Given the description of an element on the screen output the (x, y) to click on. 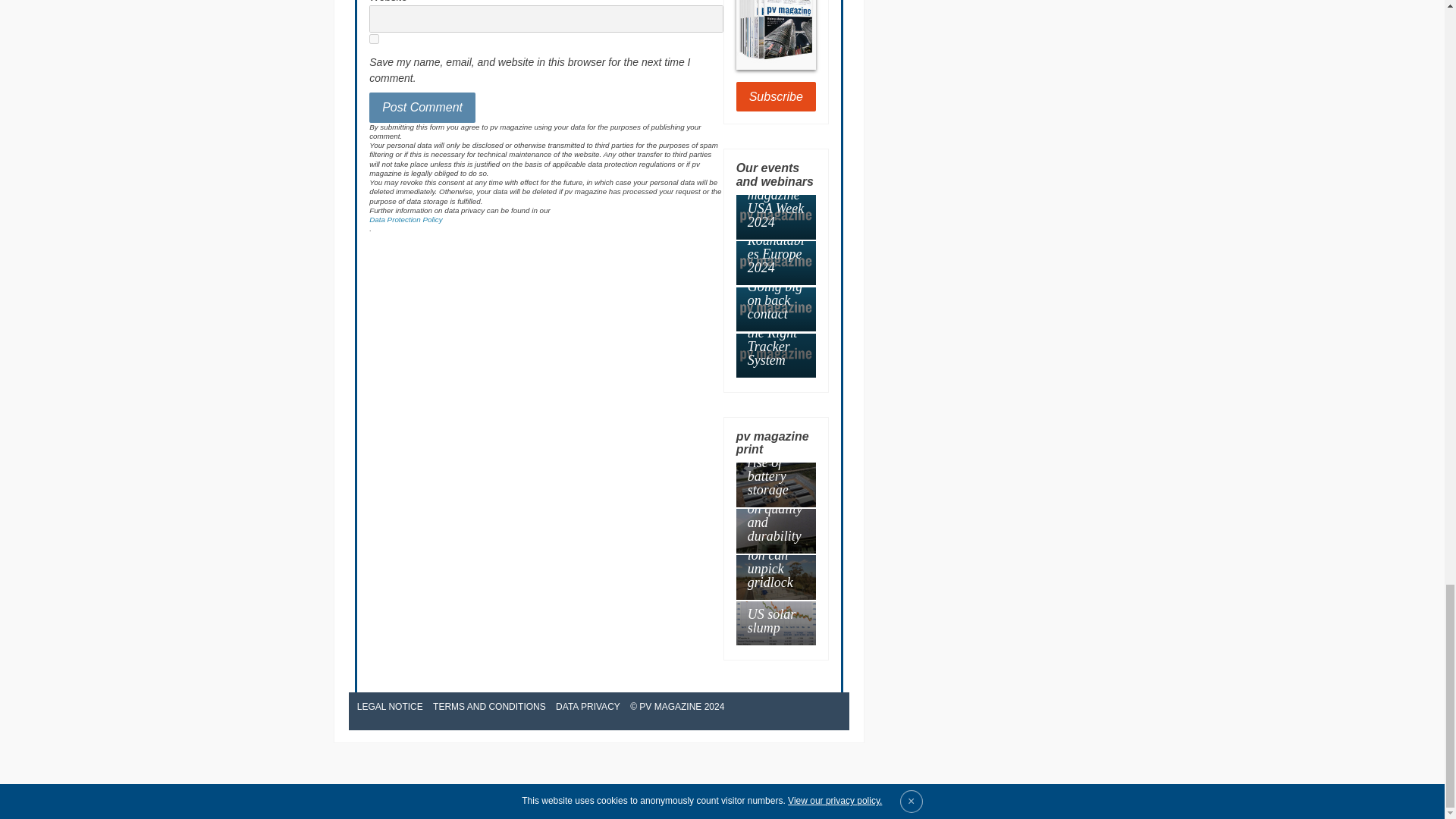
yes (373, 39)
Post Comment (422, 107)
